Given the description of an element on the screen output the (x, y) to click on. 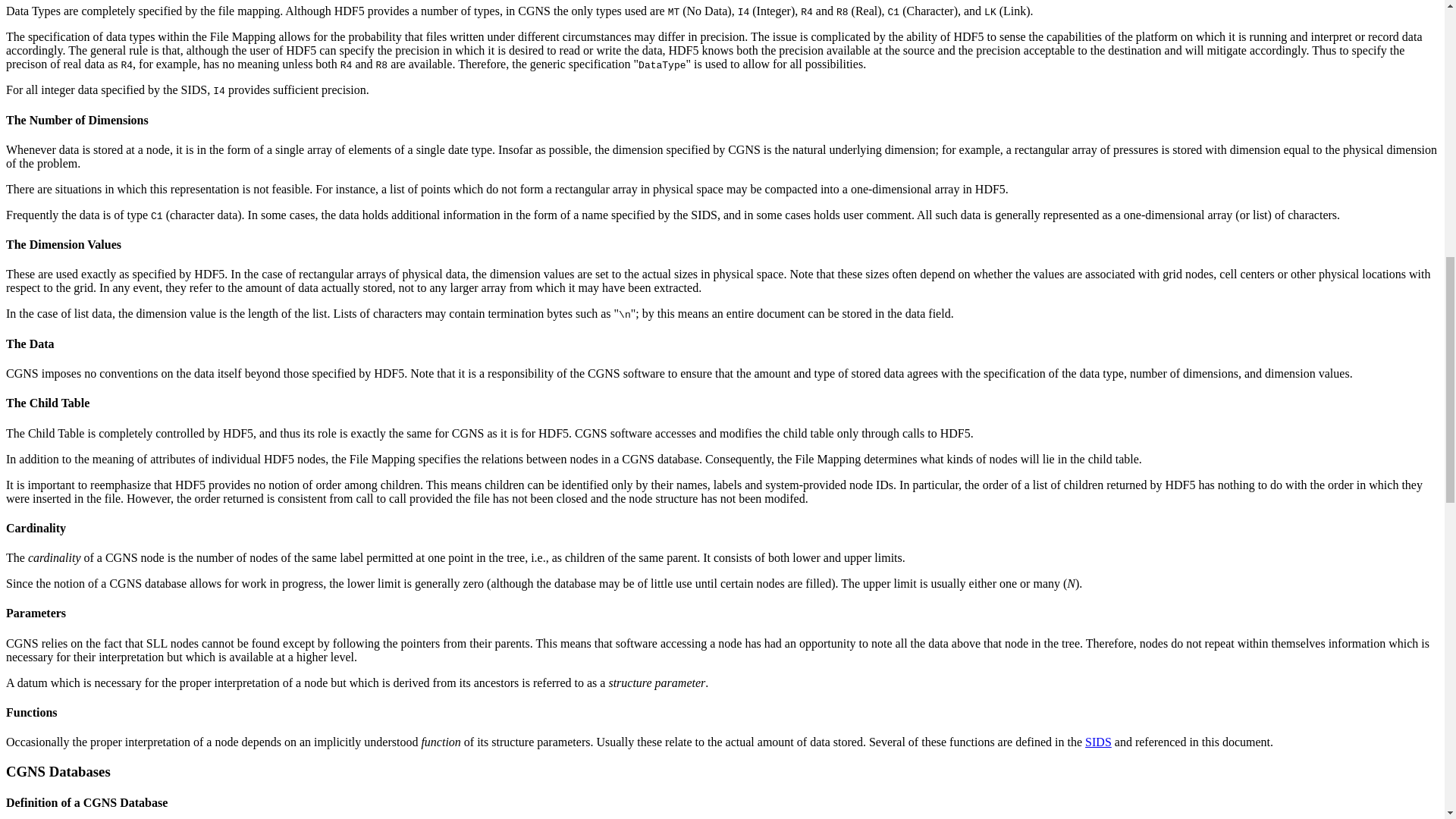
SIDS (1098, 741)
